Given the description of an element on the screen output the (x, y) to click on. 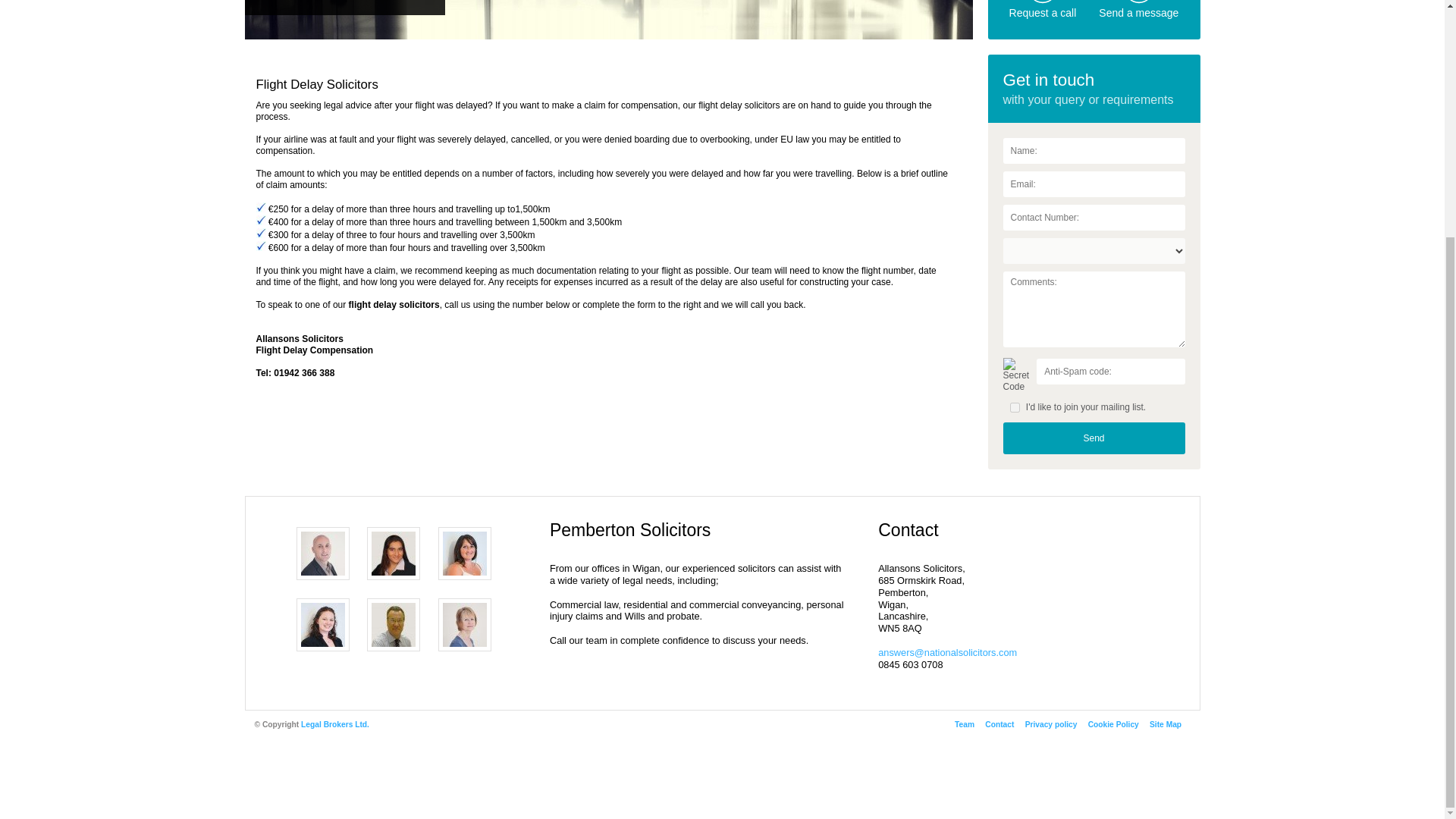
1 (1015, 407)
Cookie Policy (1112, 724)
Jon Hilton (323, 553)
Contact (999, 724)
Team (964, 724)
Request a call (1043, 12)
Privacy policy (1051, 724)
Send (1094, 438)
Sangeet Kaur (392, 553)
Nick Parker (392, 624)
Legal Brokers Ltd. (335, 724)
Send a message (1138, 12)
Andrea Coen (464, 553)
Send (1094, 438)
Sonia Welch (323, 624)
